Given the description of an element on the screen output the (x, y) to click on. 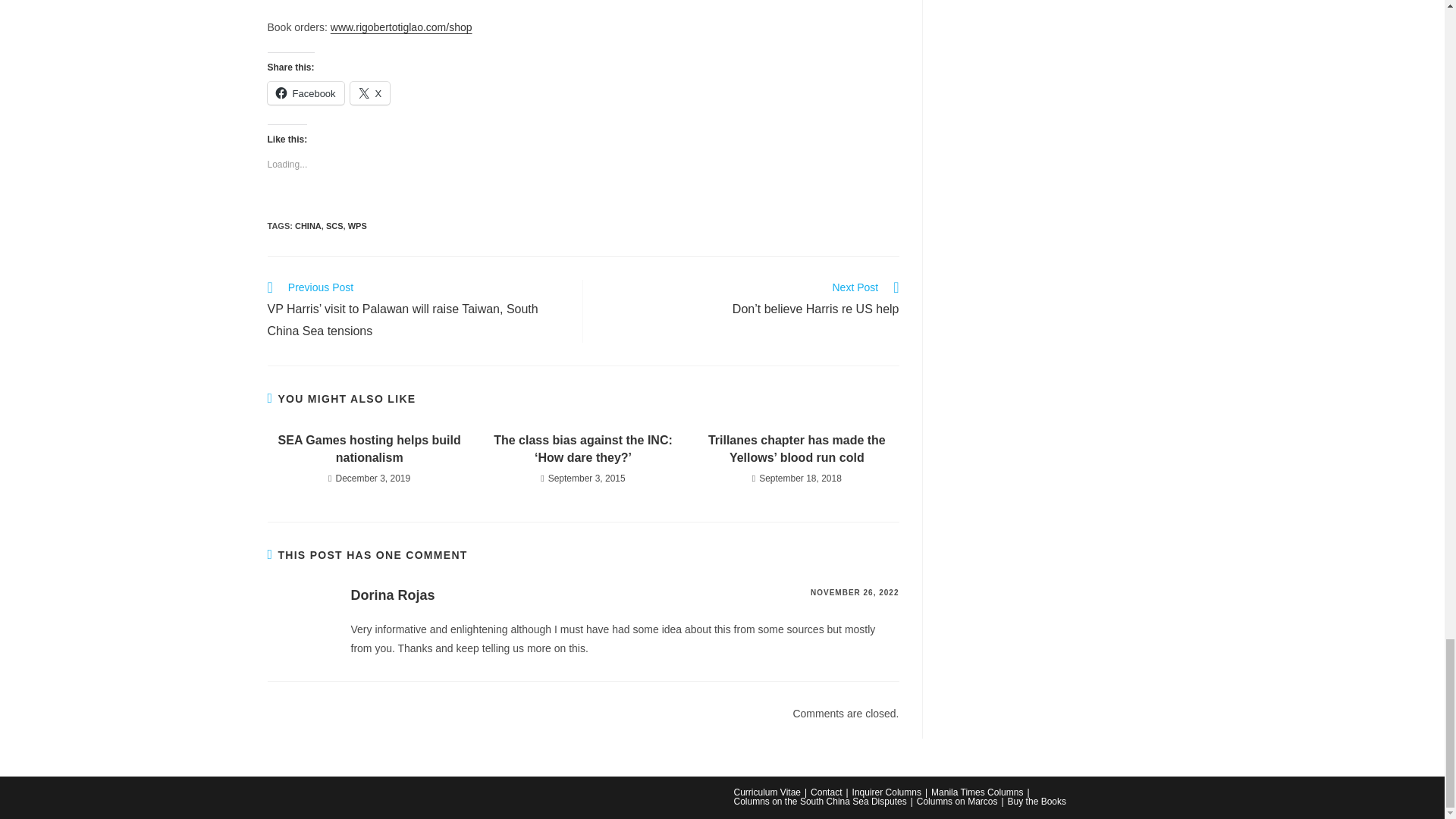
WPS (356, 225)
Click to share on Facebook (304, 92)
SEA Games hosting helps build nationalism (368, 449)
X (370, 92)
Click to share on X (370, 92)
Dorina Rojas (391, 595)
SCS (334, 225)
Facebook (304, 92)
CHINA (308, 225)
